Given the description of an element on the screen output the (x, y) to click on. 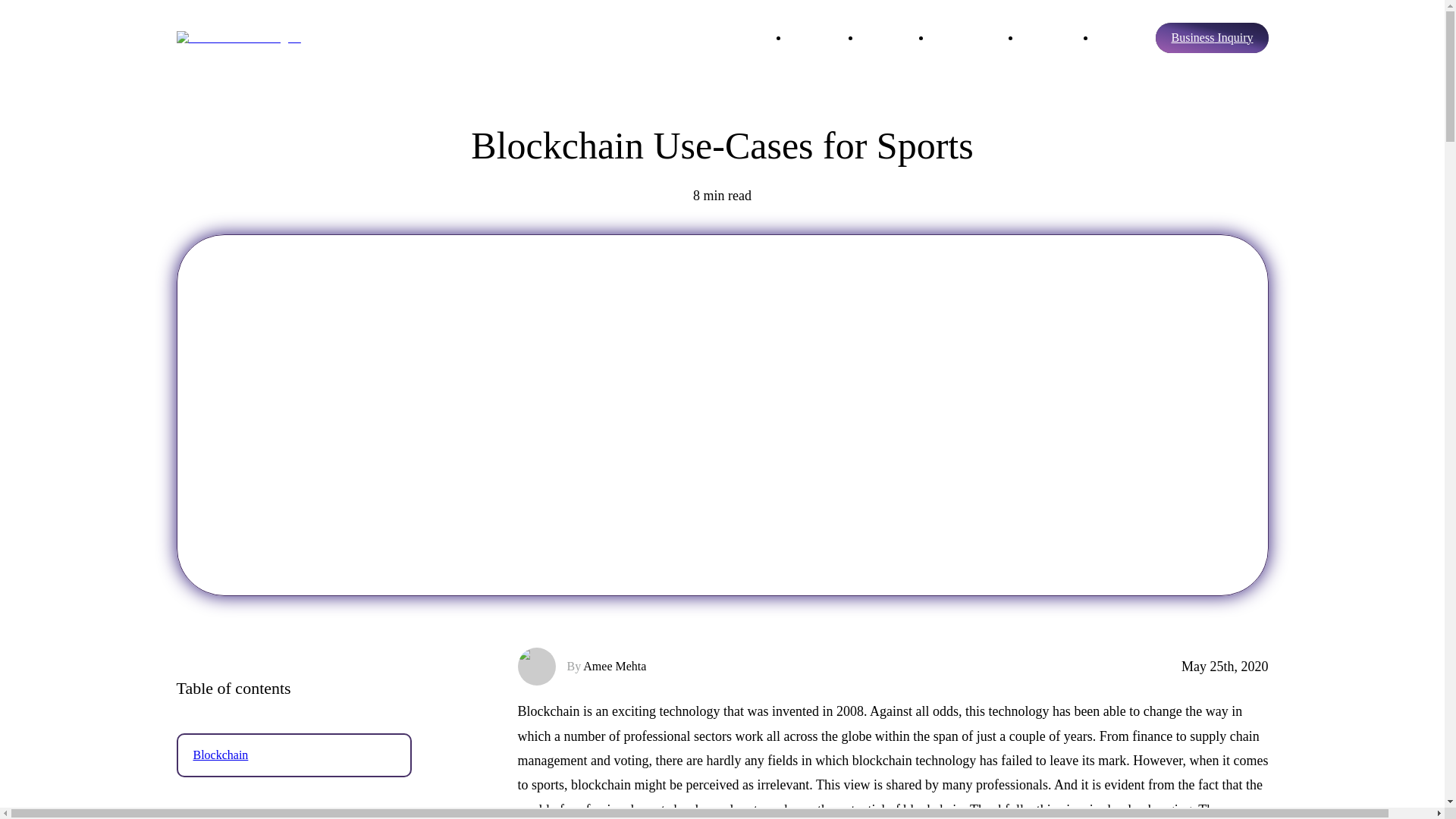
Business Inquiry (1212, 37)
About Us (812, 39)
Blockchain (293, 755)
Hire us (1113, 39)
Our Products (963, 39)
Resources (1045, 39)
Expertise (882, 39)
